Given the description of an element on the screen output the (x, y) to click on. 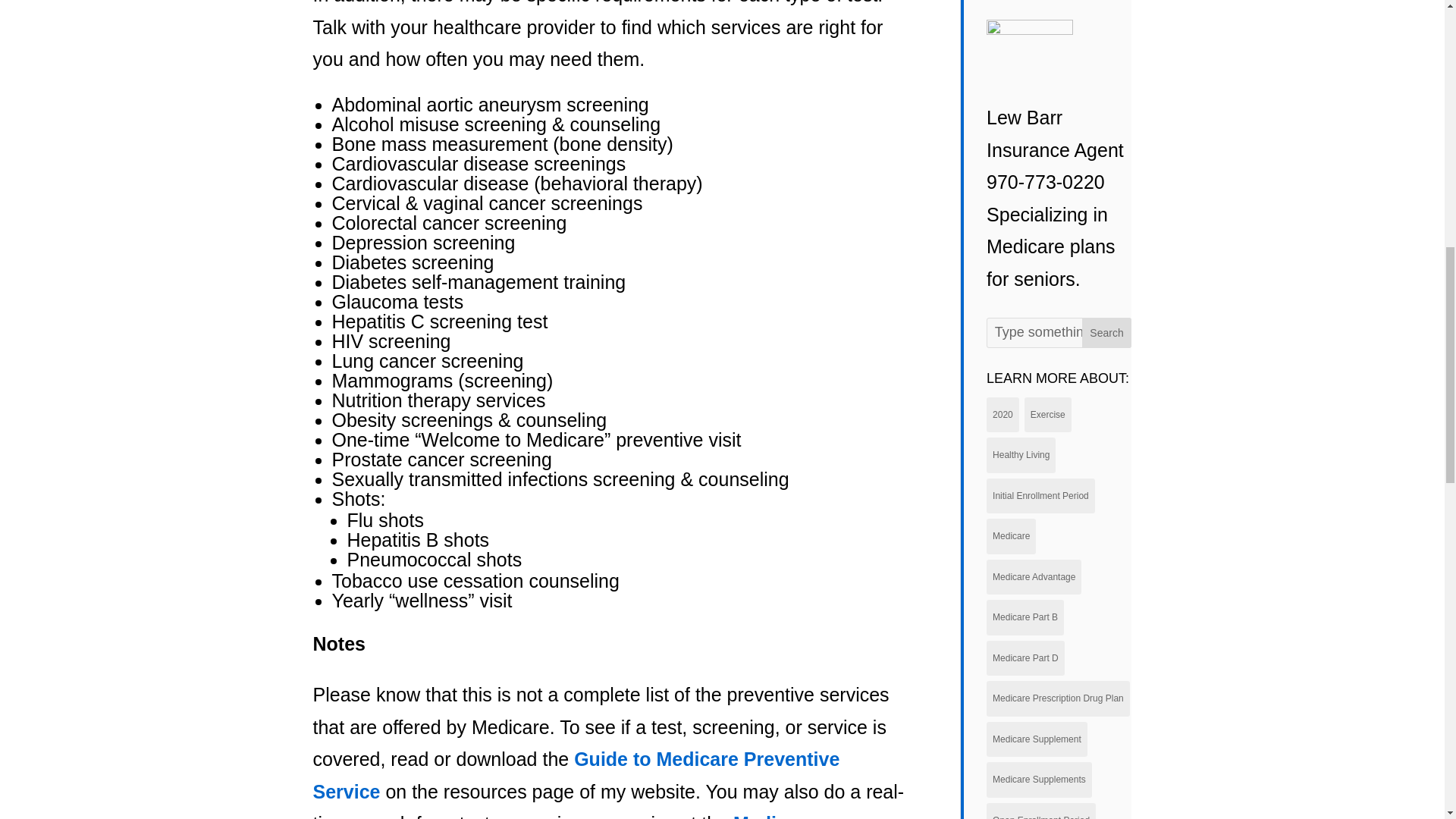
Initial Enrollment Period (1040, 496)
Open Enrollment Period (1041, 811)
Medicare (1011, 536)
Search (1106, 332)
Medicare Supplements (1039, 779)
Medicare Advantage (1034, 577)
Healthy Living (1021, 455)
Medicare Prescription Drug Plan (1058, 698)
Medicare Part D (1025, 658)
Exercise (1048, 415)
